Given the description of an element on the screen output the (x, y) to click on. 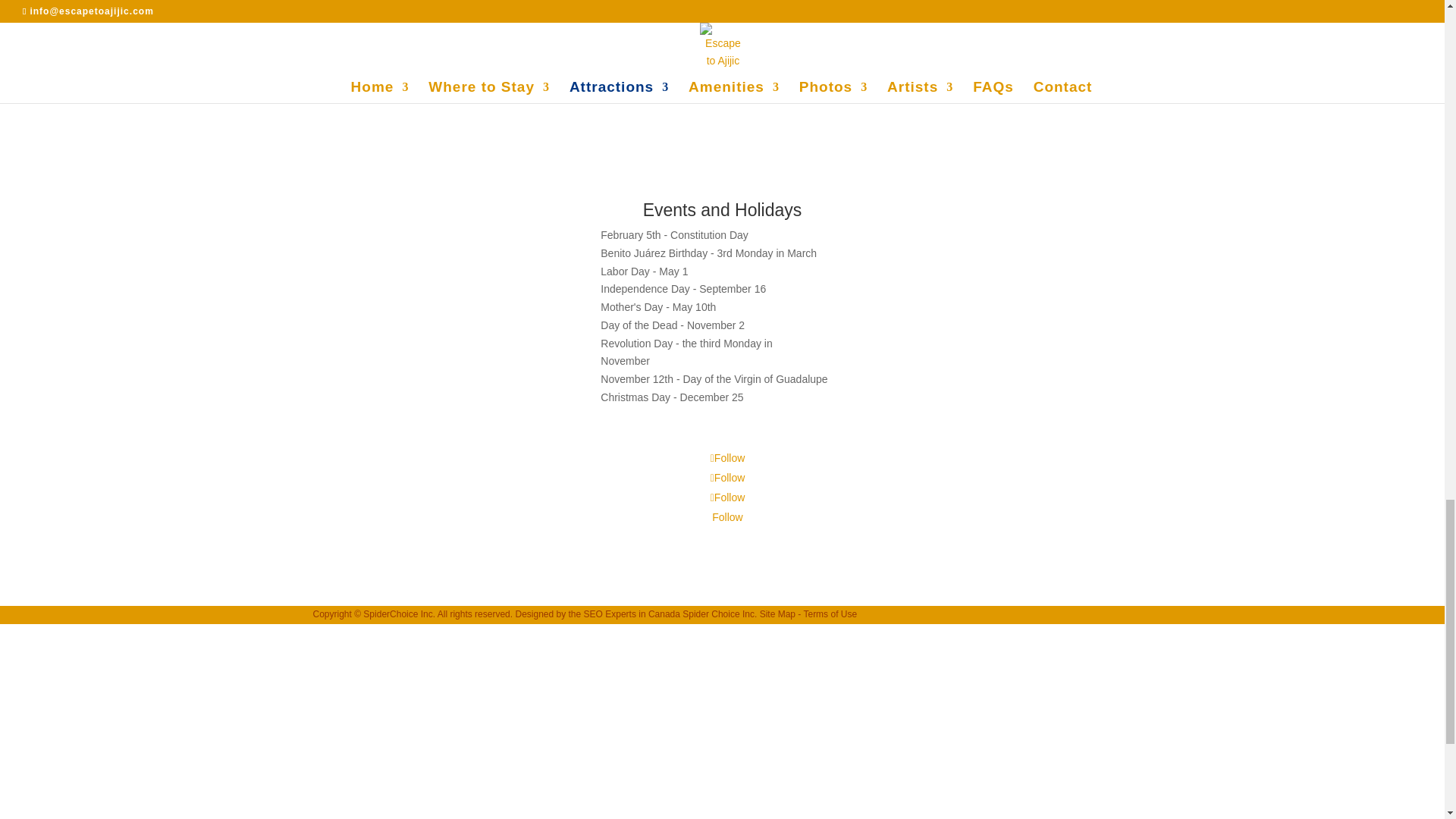
Pinterest (726, 517)
Chameleon bar - Ajijic, Mexico. (433, 292)
Facebook (729, 458)
Lake Chapala fisherman on the Malecon in Ajijic, Mexico. (1009, 292)
Instagram (729, 497)
Twitter (729, 477)
